Given the description of an element on the screen output the (x, y) to click on. 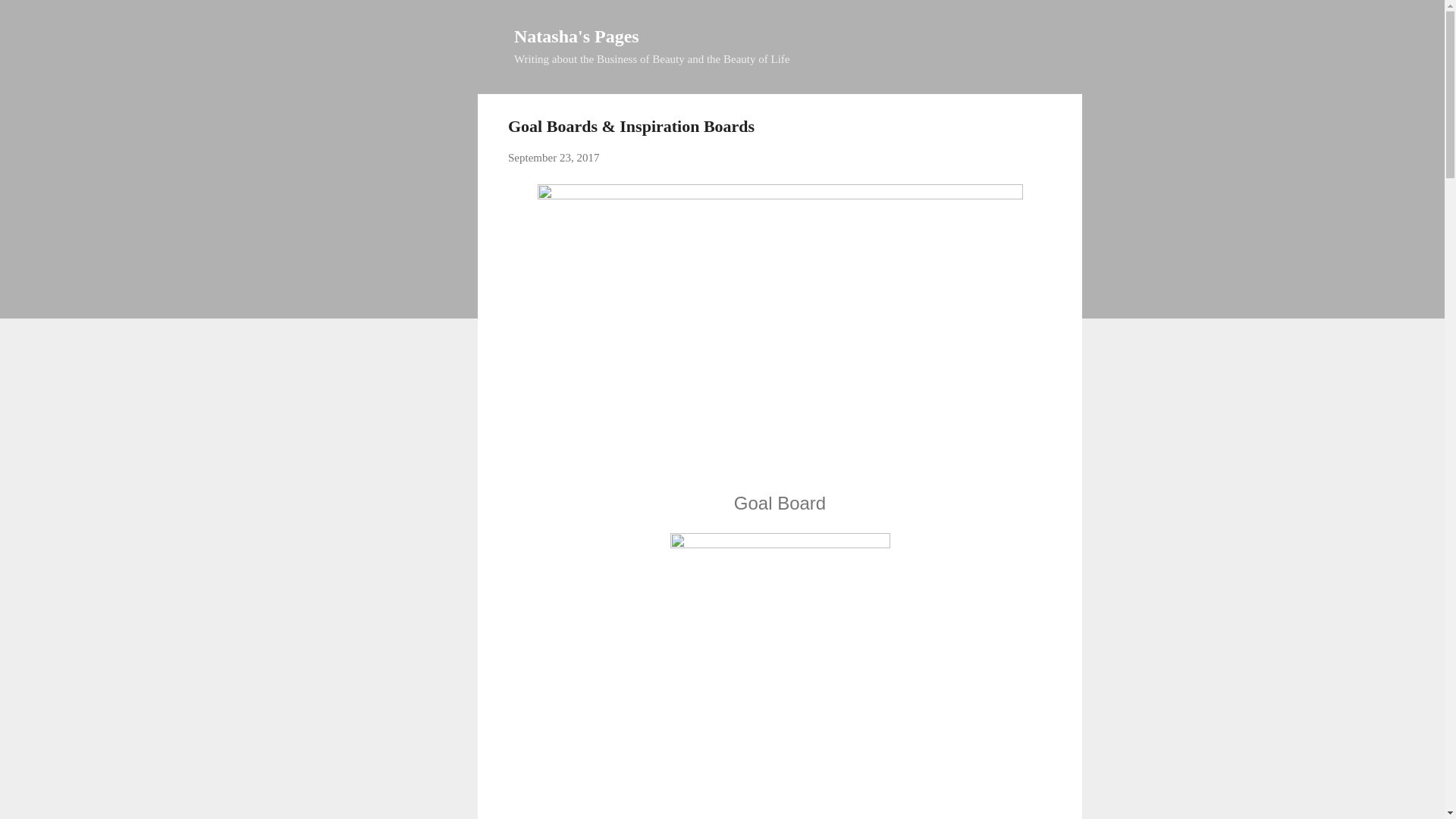
Search (29, 18)
September 23, 2017 (553, 157)
Natasha's Pages (576, 35)
permanent link (553, 157)
